Given the description of an element on the screen output the (x, y) to click on. 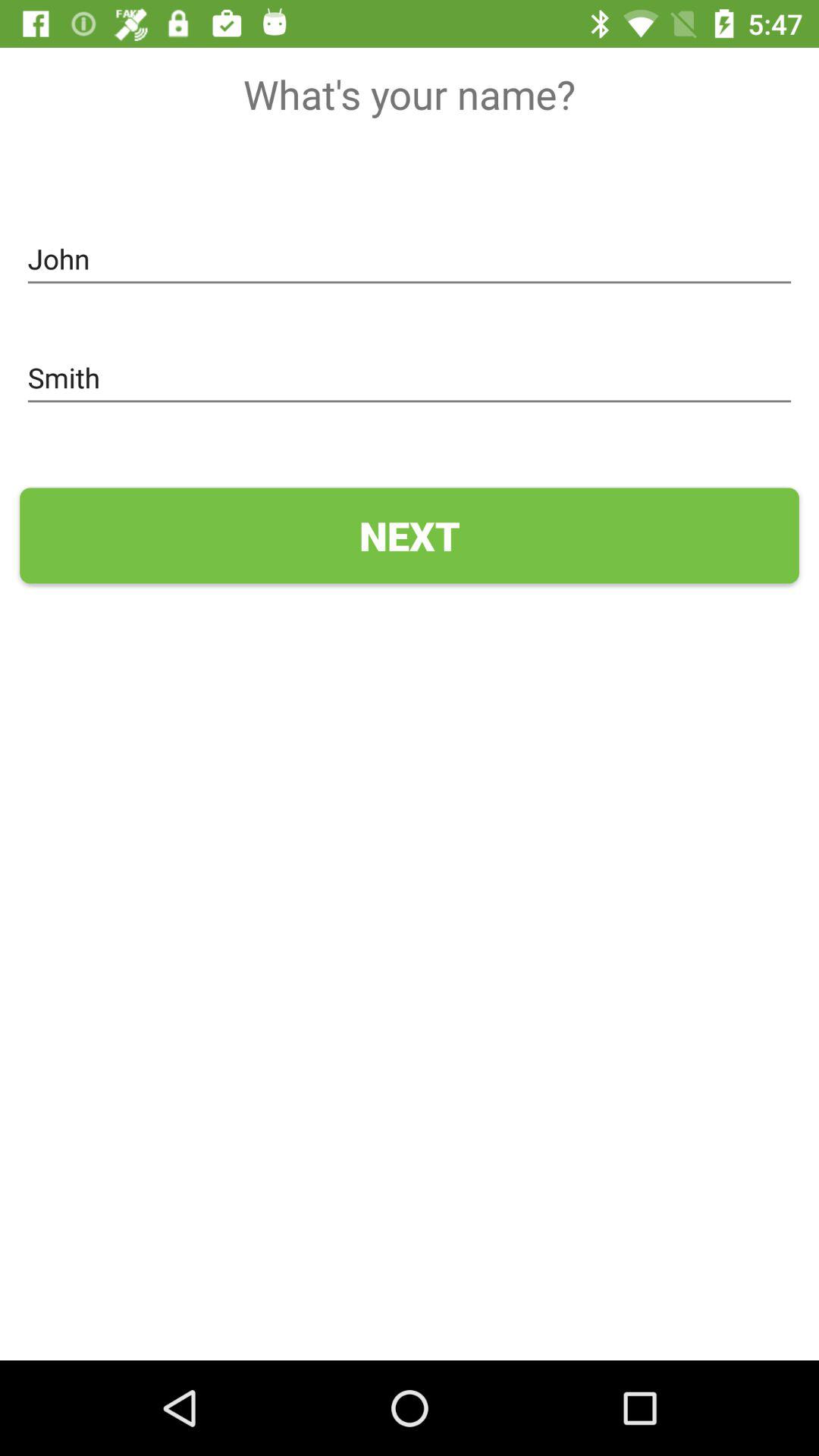
scroll until the smith item (409, 378)
